Given the description of an element on the screen output the (x, y) to click on. 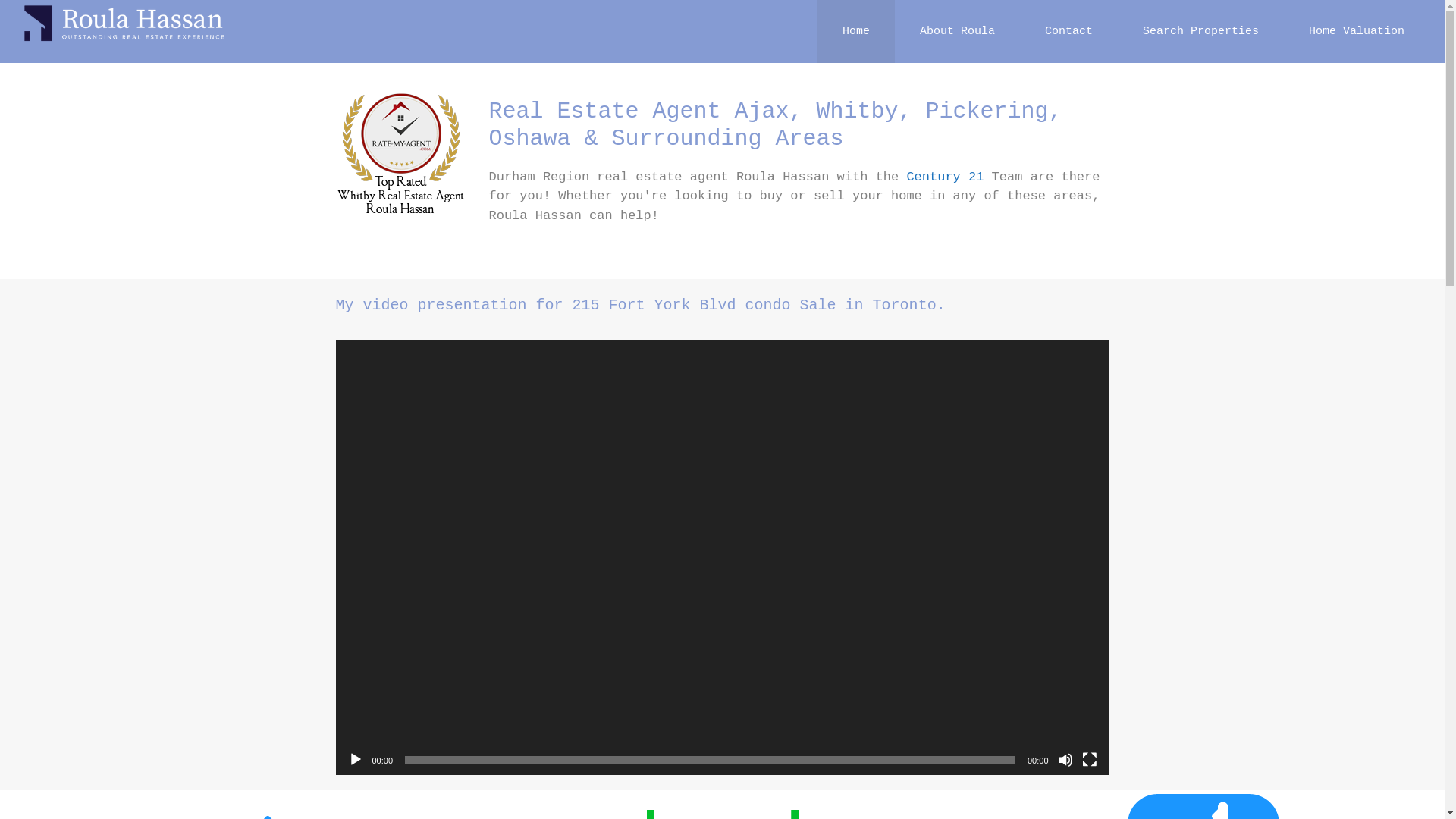
Mute Element type: hover (1064, 759)
Home Valuation Element type: text (1356, 31)
Search Properties Element type: text (1200, 31)
Play Element type: hover (354, 759)
Fullscreen Element type: hover (1088, 759)
Century 21 Element type: text (944, 176)
About Roula Element type: text (956, 31)
Contact Element type: text (1068, 31)
Home Element type: text (855, 31)
